Given the description of an element on the screen output the (x, y) to click on. 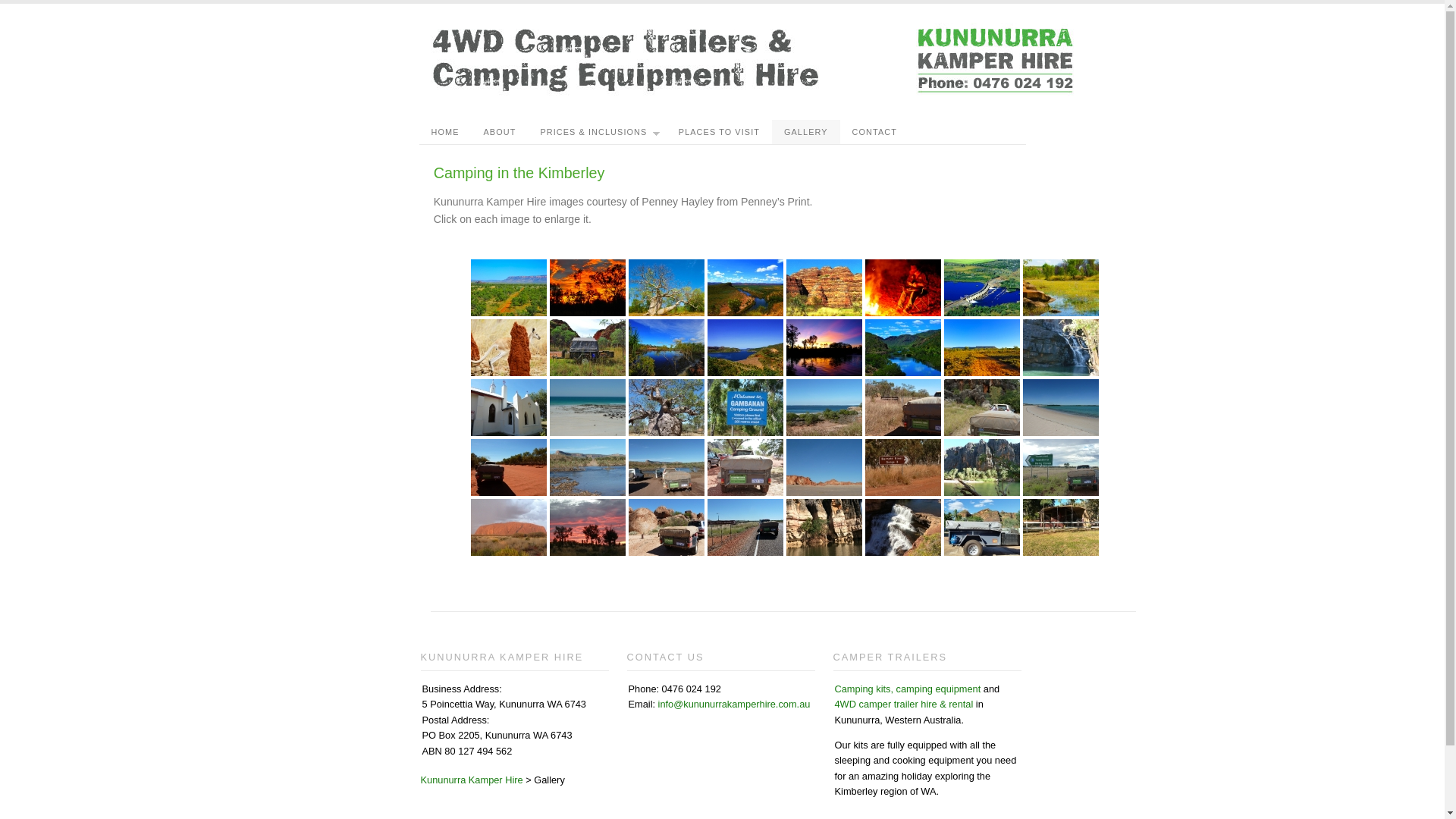
Frankland Camper Trailer Element type: hover (1060, 526)
Ord Camper Element type: hover (981, 526)
GALLERY Element type: text (805, 131)
SONY DSC Element type: hover (981, 287)
A long walk to the Cockburns Element type: hover (508, 287)
Camper Trailer Element type: hover (587, 347)
SONY DSC Element type: hover (1060, 287)
camper-trailer-uluru Element type: hover (508, 526)
Kimberley Waterhole Element type: hover (666, 347)
PLACES TO VISIT Element type: text (718, 131)
info@kununurrakamperhire.com.au Element type: text (734, 703)
Gibb River Element type: hover (903, 407)
Bungle Bungles Element type: hover (824, 287)
Kununurra Kamper Hire Home Element type: hover (759, 92)
Derby Element type: hover (666, 407)
Geiki Gorge Element type: hover (824, 526)
SONY DSC Element type: hover (824, 347)
On the road to Cape Leveque Element type: hover (508, 467)
Brancos Lookout Element type: hover (745, 287)
SONY DSC Element type: hover (745, 347)
Ord river Kununurra Element type: hover (903, 347)
Turnoff to Mount Barnett Gorge Element type: hover (903, 467)
kununurra-kamper-hire Element type: hover (666, 526)
Windjana Gorge Gibb River Element type: hover (981, 467)
ABOUT Element type: text (498, 131)
camping-equipment-kimberly Element type: hover (587, 526)
Camping kits, camping equipment Element type: text (907, 688)
SONY DSC Element type: hover (666, 287)
Kununurra Kamper Hire Element type: text (471, 779)
Cable Beach in Broome Element type: hover (587, 407)
Pentacost Crossing Cockburn Ranges Element type: hover (587, 467)
PRICES & INCLUSIONS Element type: text (596, 131)
Beagle Bay Church Element type: hover (508, 407)
HOME Element type: text (444, 131)
CONTACT Element type: text (874, 131)
Lombadina Beach Cape Leveque Element type: hover (1060, 407)
4WD camper trailer hire & rental Element type: text (903, 703)
Western Beach - Cape Leveque Element type: hover (824, 467)
trailer-hire Element type: hover (745, 526)
camper-trailer-hire-halls-creek Element type: hover (1060, 467)
Tunnel Creek on the Gibb River Road Element type: hover (745, 467)
By the camp fire Element type: hover (903, 287)
Cape Leveque Camping Element type: hover (745, 407)
Adcock Gorge on the Gibb River Road Element type: hover (1060, 347)
Pentacost Crossing in the Kimberlys Element type: hover (666, 467)
Bell Gorge Element type: hover (903, 526)
SONY DSC Element type: hover (508, 347)
Gambanan Camping Ground Element type: hover (824, 407)
Another Kimberley dawn Gregory National Park Element type: hover (587, 287)
Track to the Cockburns Element type: hover (981, 347)
Mimbi Caves Element type: hover (981, 407)
